Given the description of an element on the screen output the (x, y) to click on. 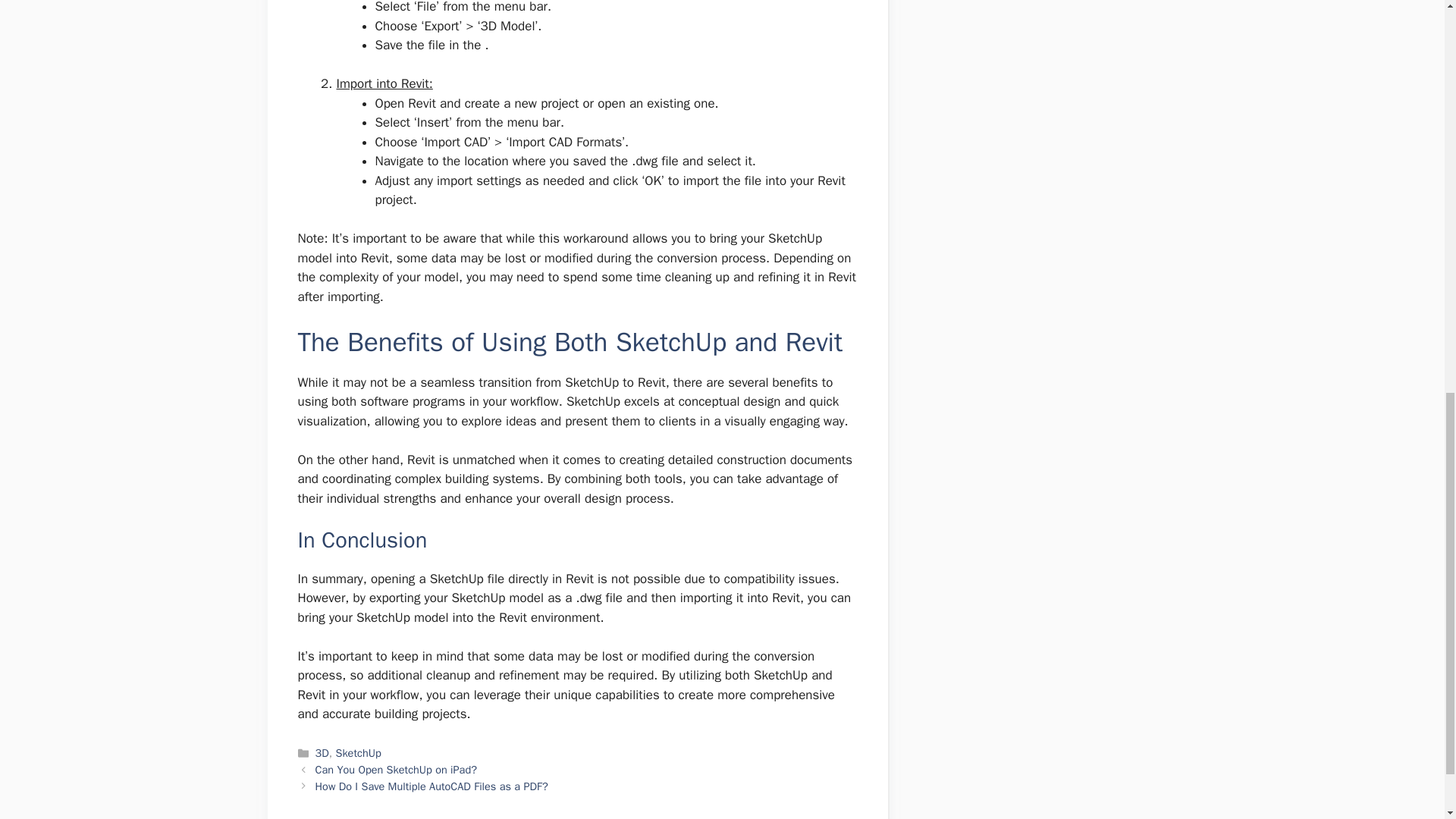
3D (322, 753)
SketchUp (357, 753)
Can You Open SketchUp on iPad? (396, 769)
How Do I Save Multiple AutoCAD Files as a PDF? (431, 786)
